Given the description of an element on the screen output the (x, y) to click on. 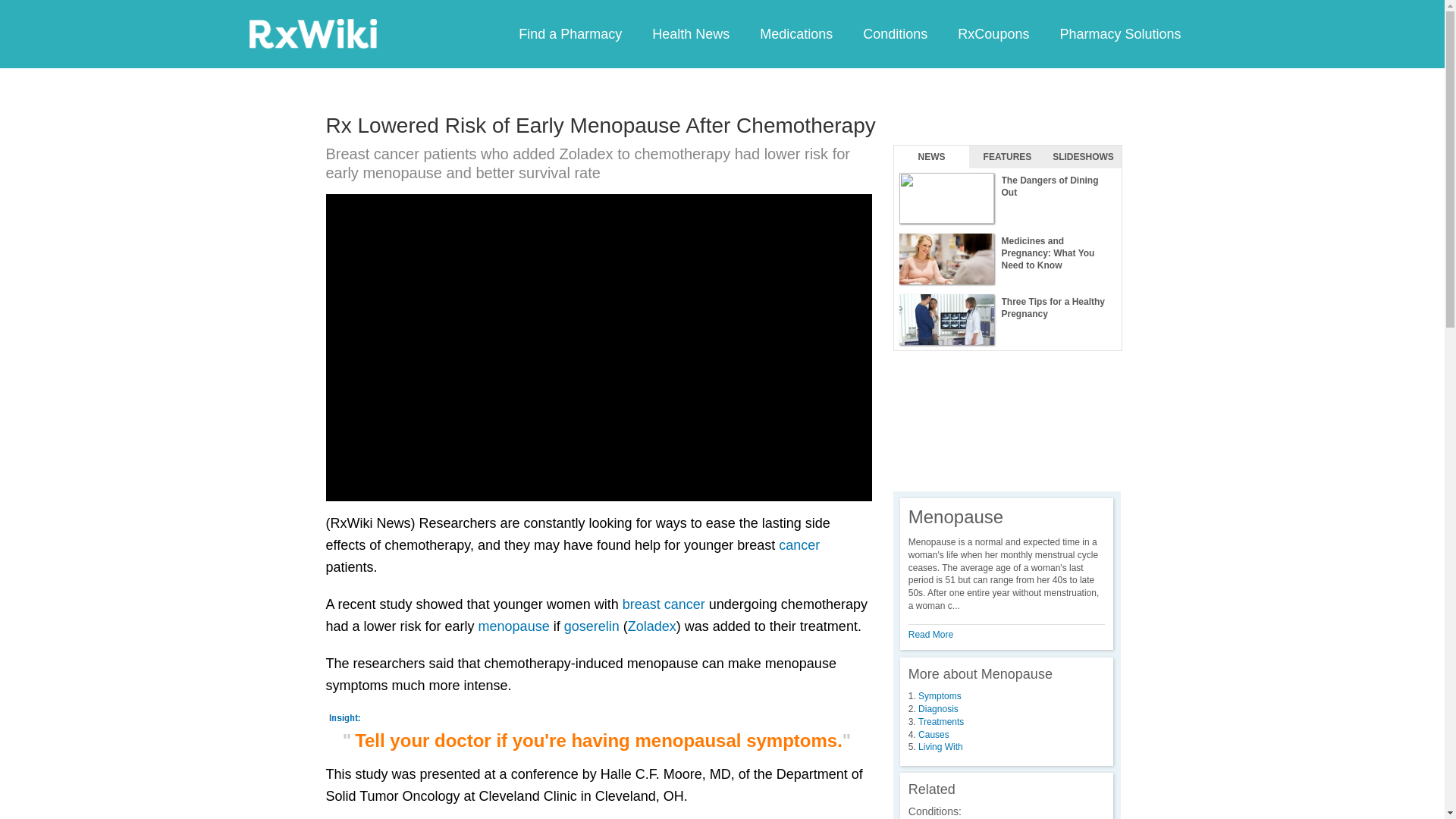
Medications (795, 33)
Medicines and Pregnancy: What You Need to Know (1007, 259)
SLIDESHOWS (1083, 156)
The Dangers of Dining Out (1007, 198)
RxCoupons (992, 33)
Pharmacy Solutions (1119, 33)
Find a Pharmacy (570, 33)
goserelin (592, 626)
Health News (690, 33)
Conditions (894, 33)
